Given the description of an element on the screen output the (x, y) to click on. 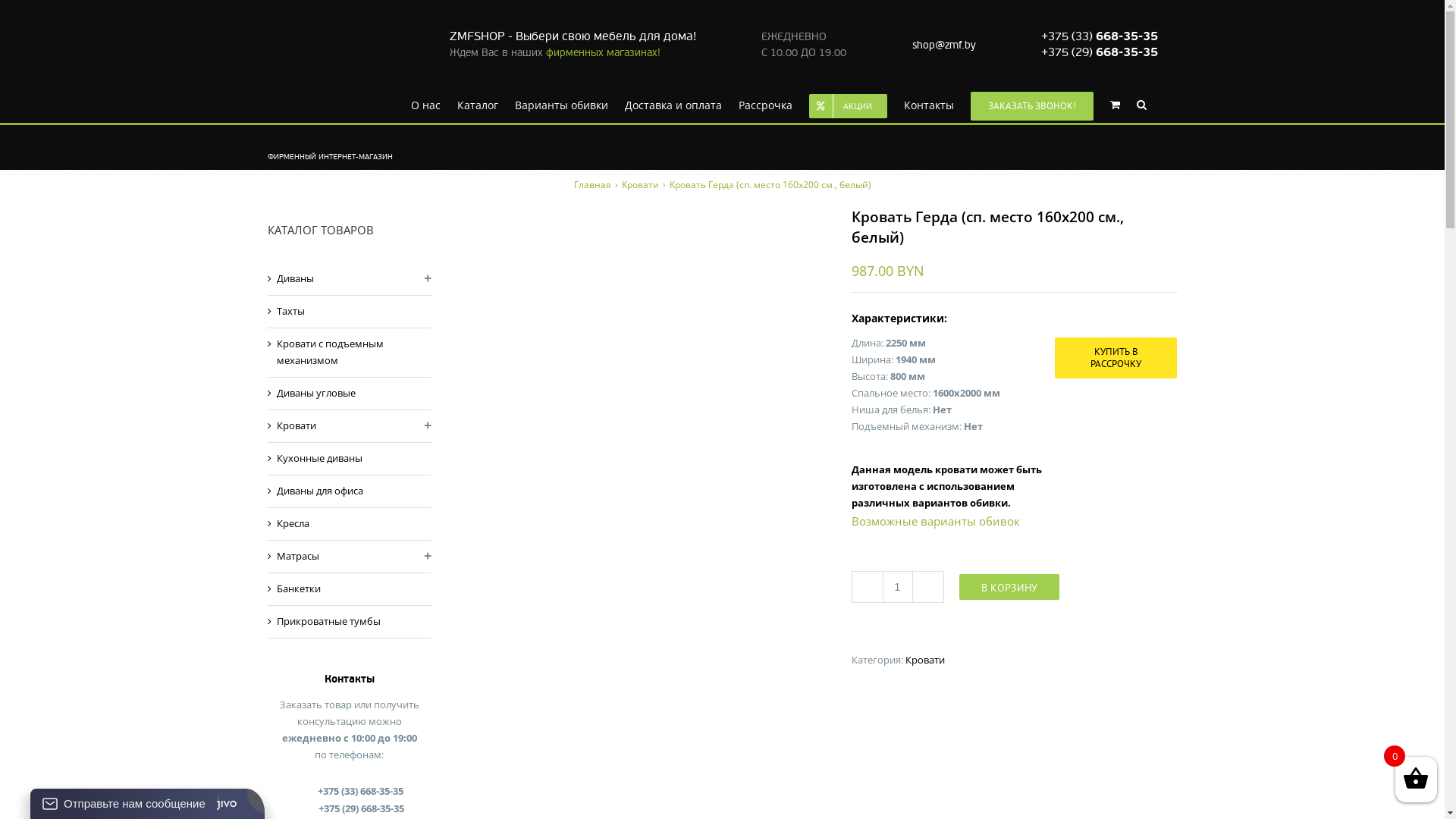
+375 (29) 668-35-35 Element type: text (1099, 51)
Search Element type: hover (1140, 103)
shop@zmf.by Element type: text (943, 43)
+375 (33) 668-35-35 Element type: text (1099, 35)
